Given the description of an element on the screen output the (x, y) to click on. 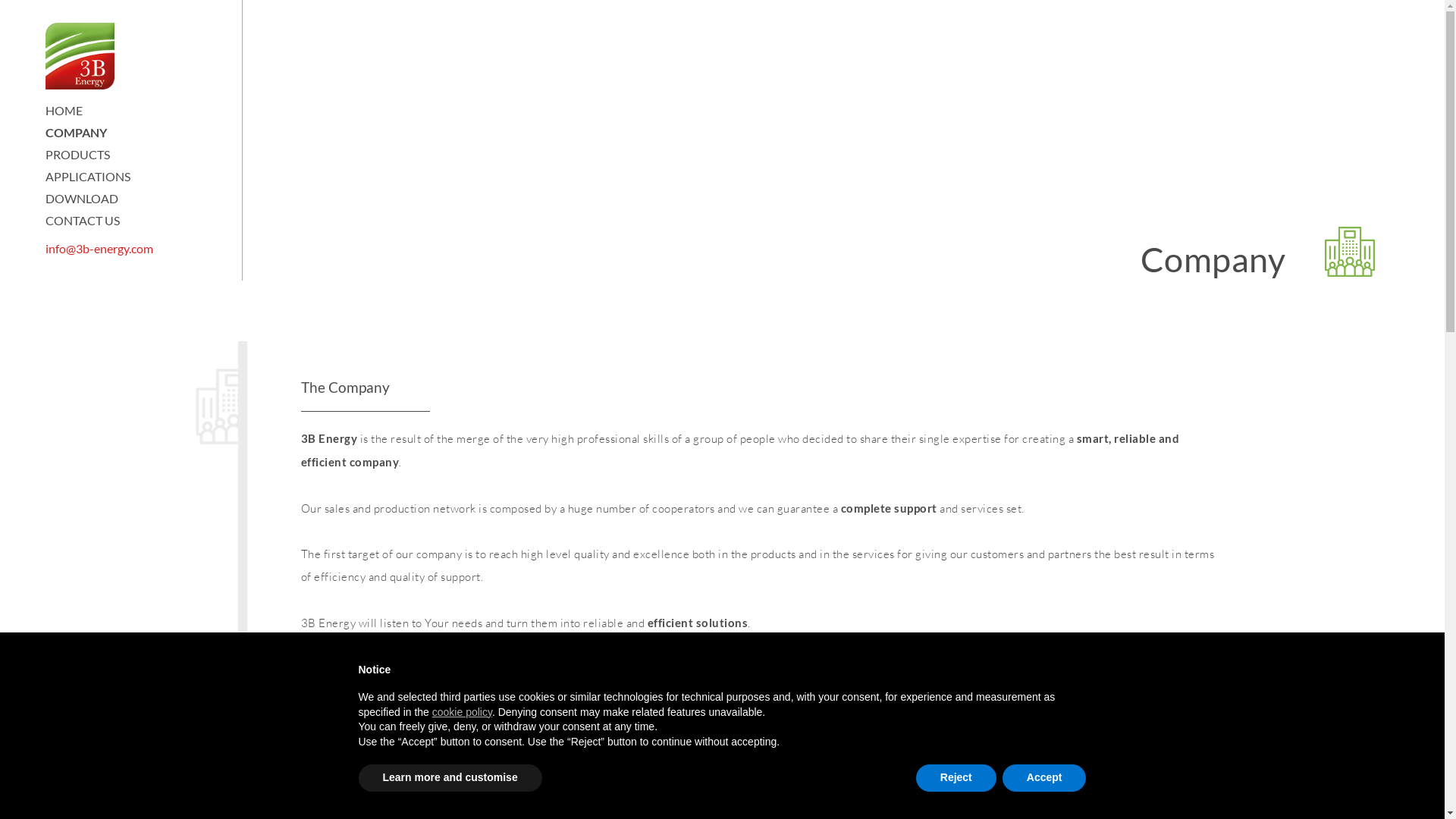
Accept Element type: text (1044, 777)
HOME Element type: text (63, 110)
DOWNLOAD Element type: text (81, 198)
Reject Element type: text (956, 777)
APPLICATIONS Element type: text (87, 176)
PRODUCTS Element type: text (77, 154)
Learn more and customise Element type: text (449, 777)
CONTACT US Element type: text (82, 220)
info@3b-energy.com Element type: text (132, 247)
COMPANY Element type: text (75, 132)
cookie policy Element type: text (462, 712)
